Given the description of an element on the screen output the (x, y) to click on. 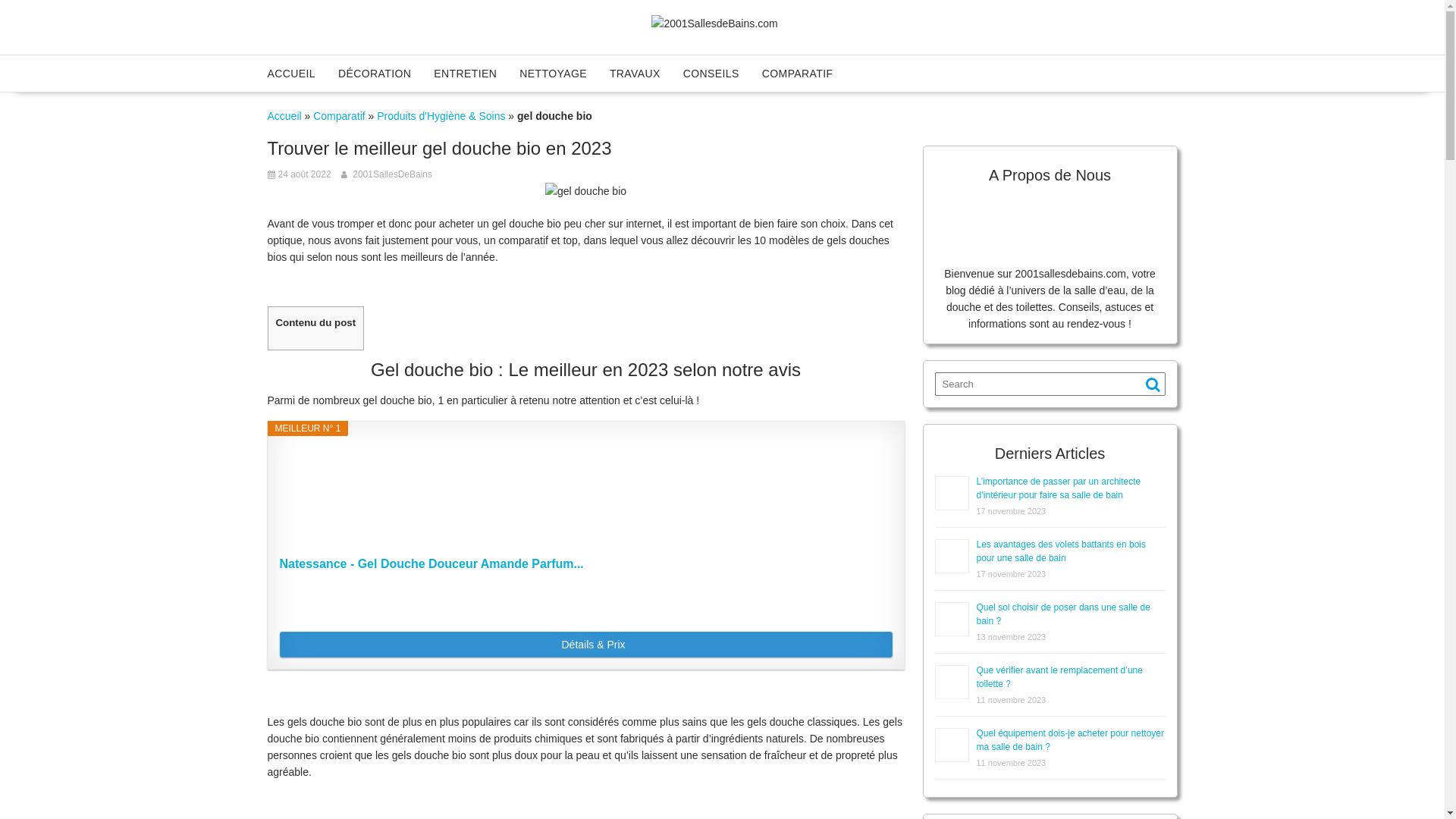
Natessance - Gel Douche Douceur Amande Parfum... Element type: text (585, 571)
Quel sol choisir de poser dans une salle de bain ? Element type: text (1063, 614)
ACCUEIL Element type: text (291, 73)
COMPARATIF Element type: text (797, 73)
NETTOYAGE Element type: text (553, 73)
Accueil Element type: text (283, 115)
TRAVAUX Element type: text (634, 73)
CONSEILS Element type: text (710, 73)
Comparatif Element type: text (338, 115)
ENTRETIEN Element type: text (465, 73)
